Given the description of an element on the screen output the (x, y) to click on. 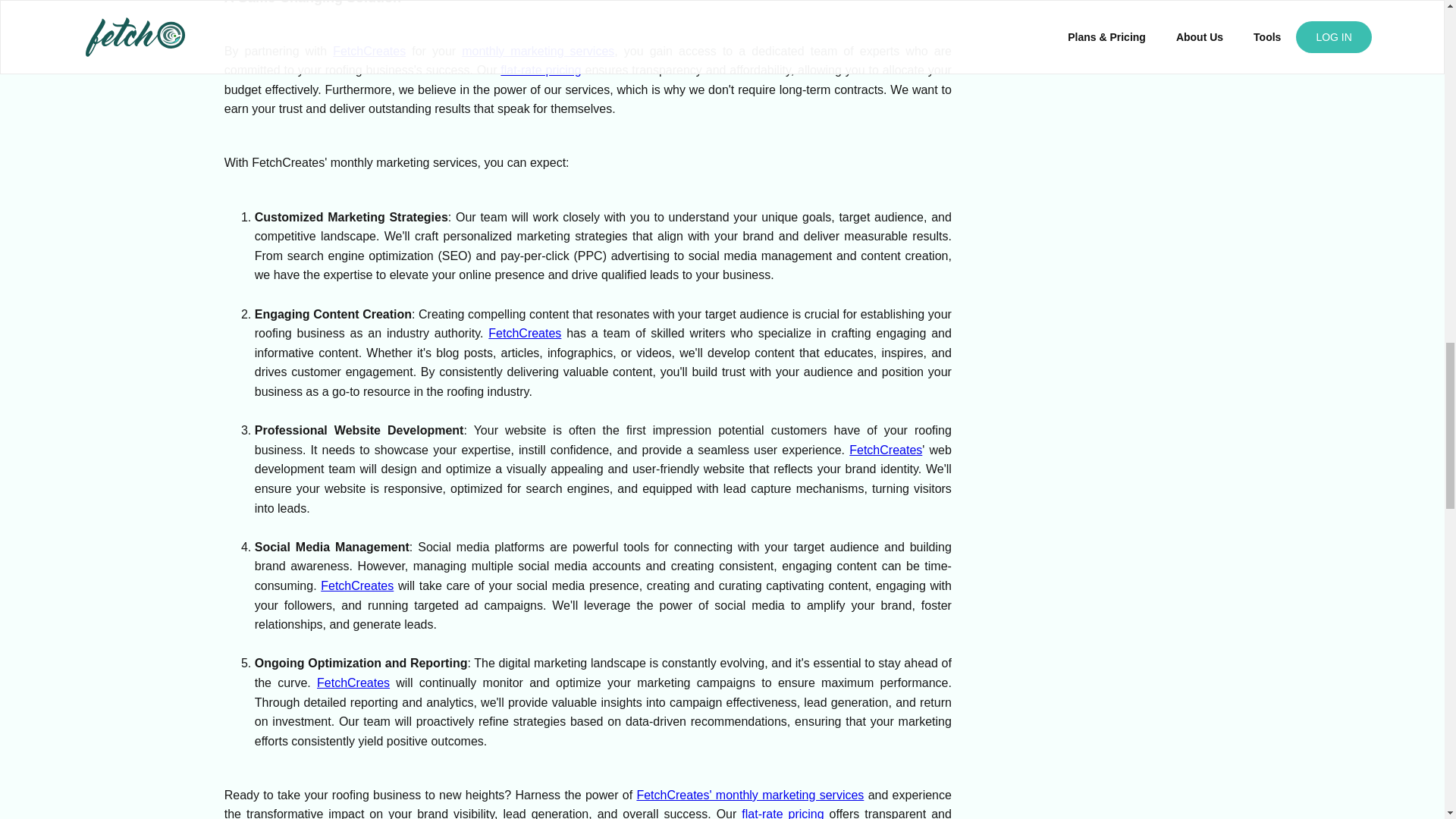
flat-rate pricing (782, 813)
FetchCreates (369, 50)
FetchCreates' monthly marketing services (749, 794)
flat-rate pricing (540, 69)
monthly marketing services (537, 50)
FetchCreates (353, 682)
FetchCreates (523, 332)
FetchCreates (356, 585)
FetchCreates (884, 449)
